Given the description of an element on the screen output the (x, y) to click on. 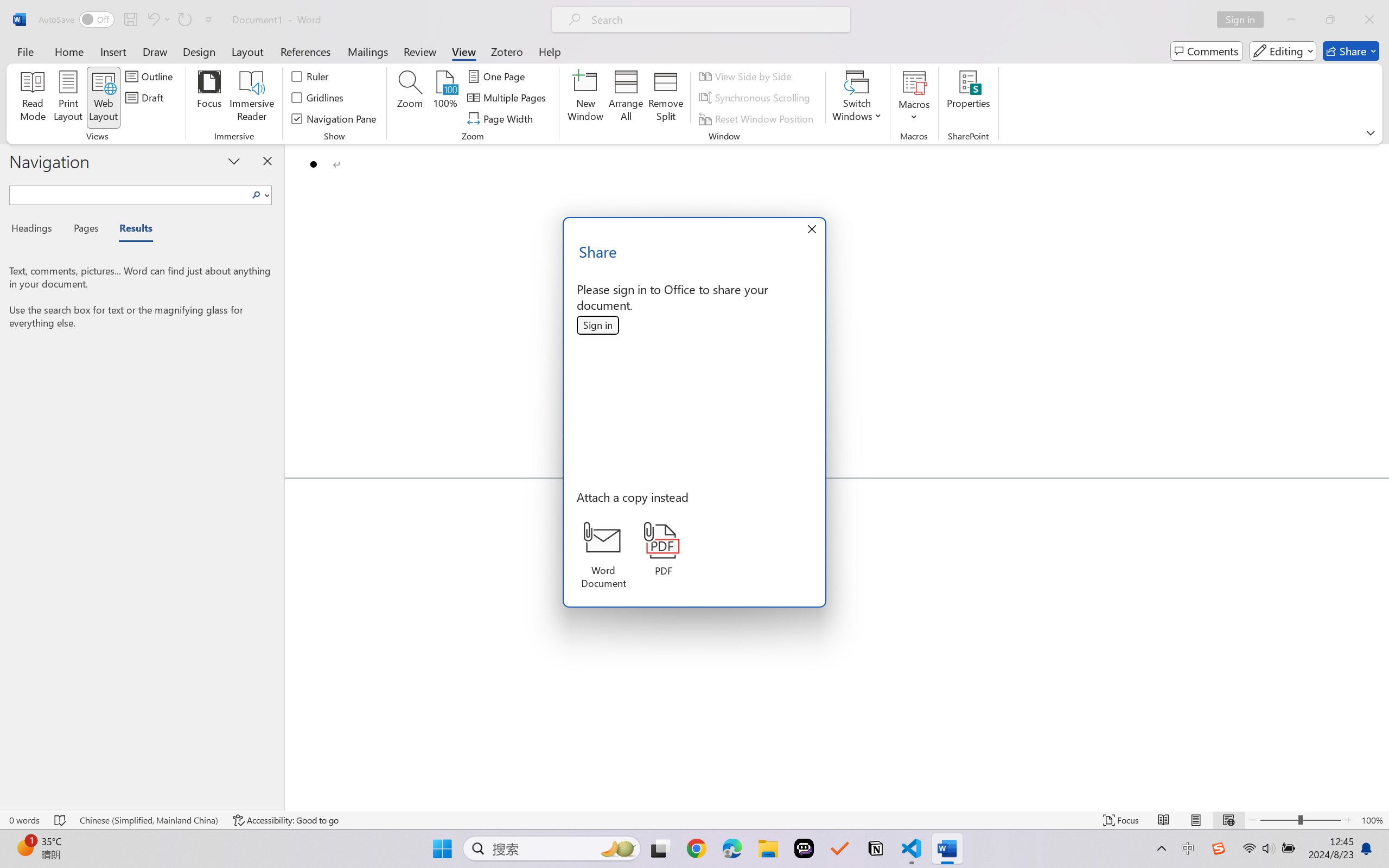
Macros (914, 97)
Gridlines (317, 97)
Arrange All (625, 97)
